Given the description of an element on the screen output the (x, y) to click on. 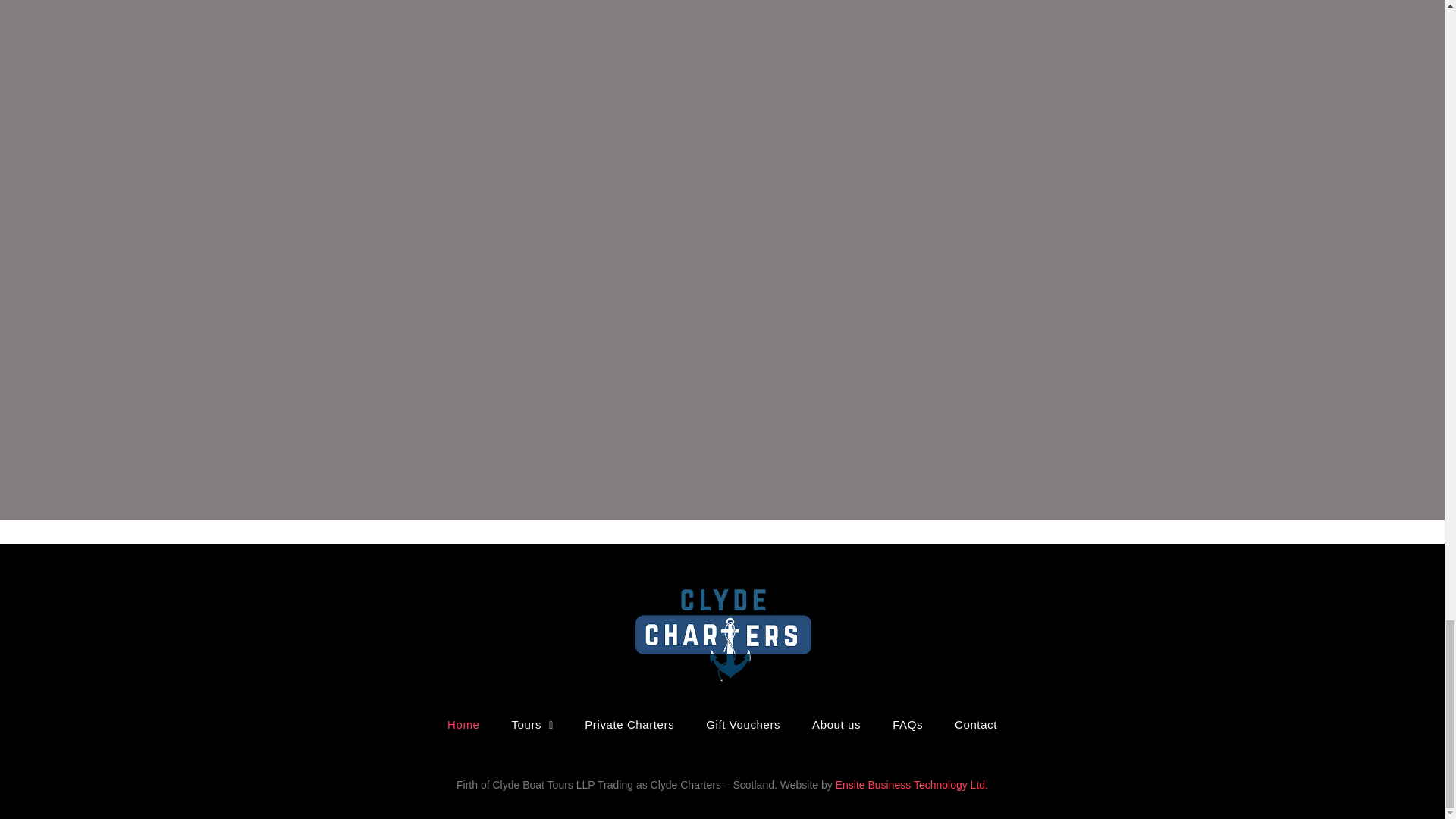
Private Charters (629, 724)
Home (462, 724)
Ensite Business Technology Ltd. (911, 784)
Tours (532, 724)
About us (836, 724)
Gift Vouchers (743, 724)
FAQs (907, 724)
Contact (976, 724)
